Given the description of an element on the screen output the (x, y) to click on. 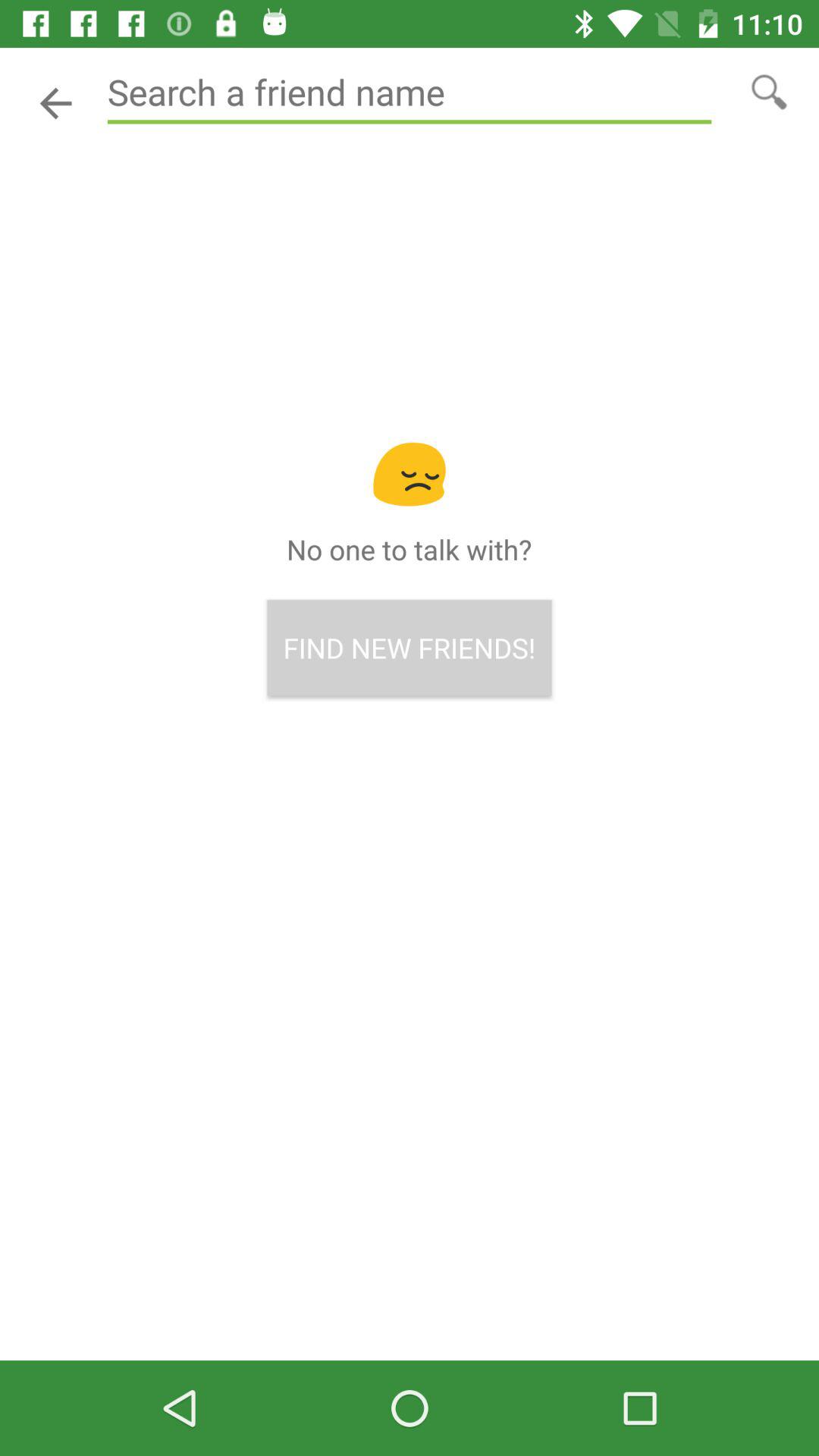
search for items (769, 91)
